Given the description of an element on the screen output the (x, y) to click on. 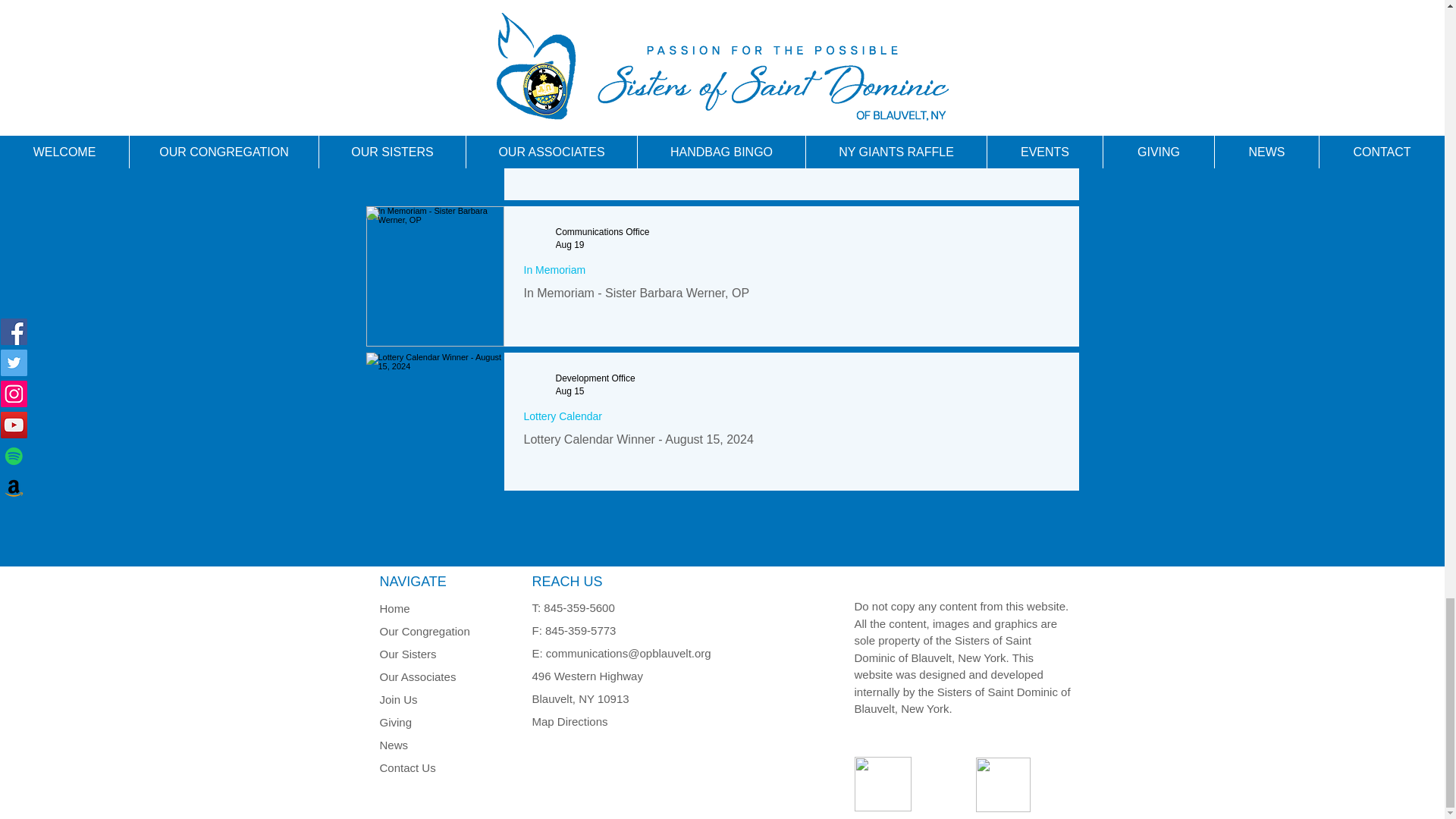
Aug 15 (568, 390)
Communications Office (601, 231)
Aug 19 (568, 244)
Aug 19 (568, 100)
Development Office (594, 87)
Development Office (594, 378)
